Given the description of an element on the screen output the (x, y) to click on. 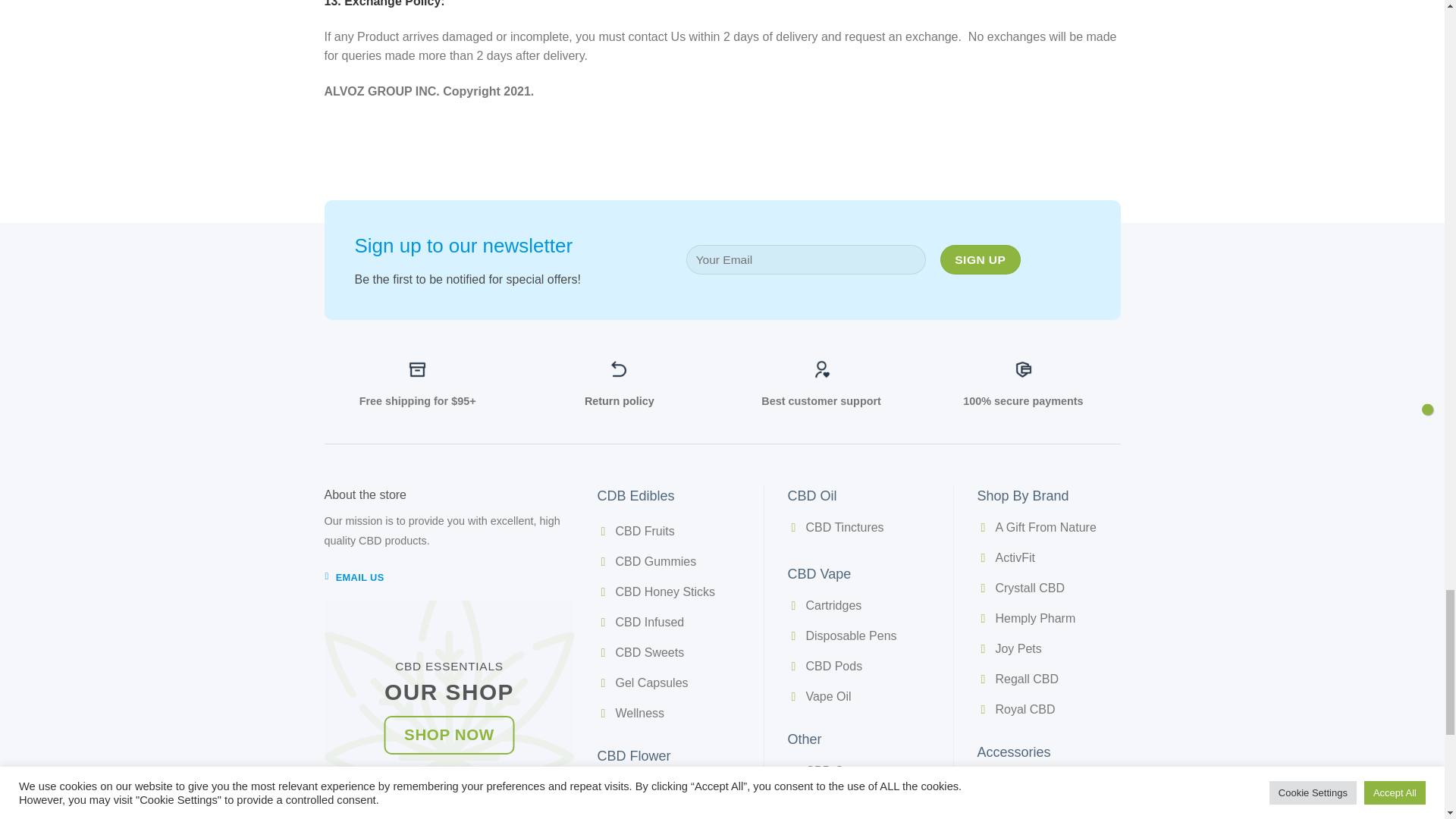
Sign Up (980, 259)
Follow on Pinterest (476, 811)
Follow on Instagram (448, 811)
Follow on Facebook (421, 811)
